Given the description of an element on the screen output the (x, y) to click on. 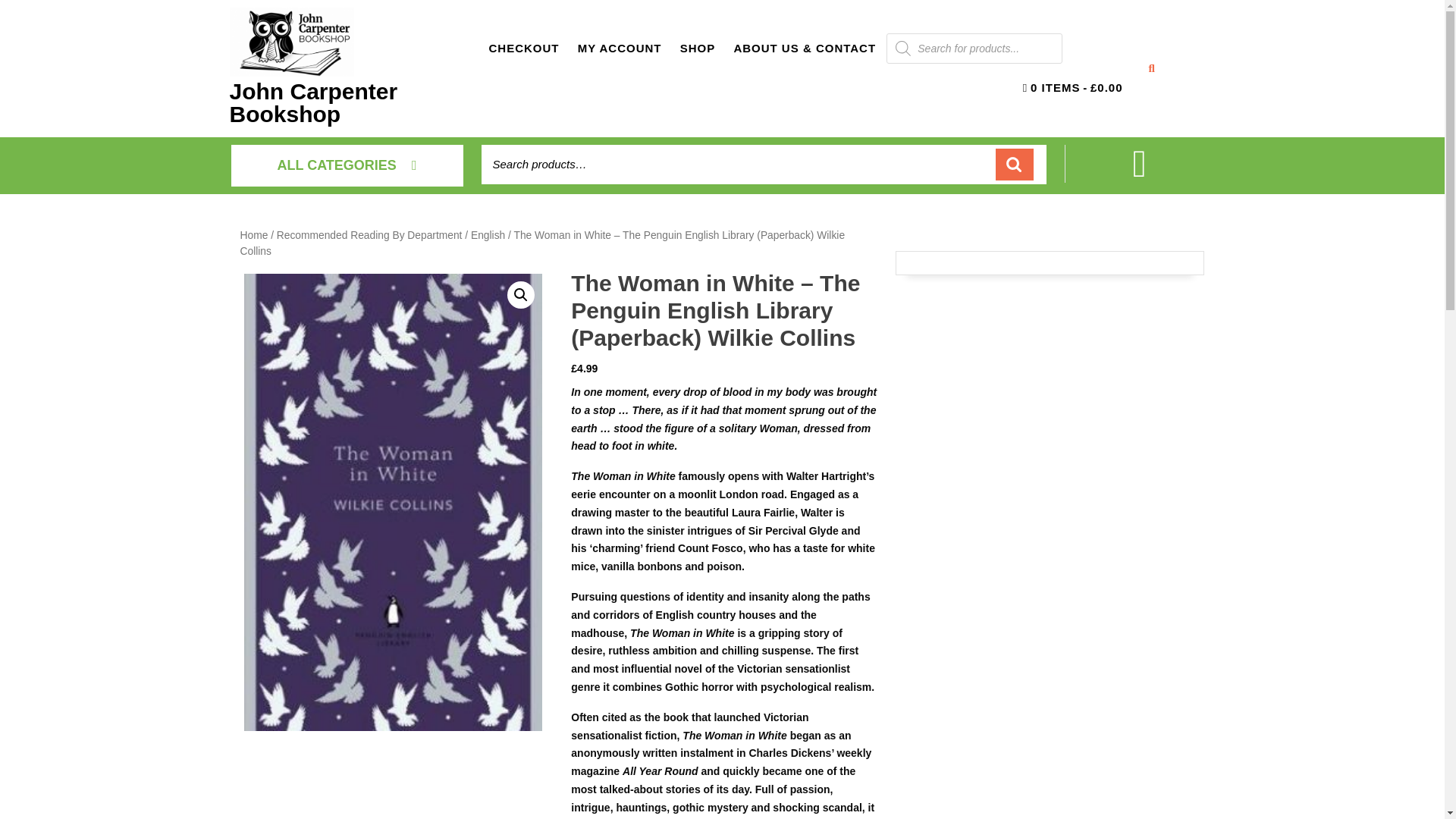
ALL CATEGORIES (346, 165)
Search (1014, 164)
SHOP (697, 48)
Cart (1139, 172)
Home (253, 235)
Start shopping (1072, 87)
English (487, 235)
Recommended Reading By Department (369, 235)
CHECKOUT (523, 48)
MY ACCOUNT (619, 48)
John Carpenter Bookshop (312, 102)
